Given the description of an element on the screen output the (x, y) to click on. 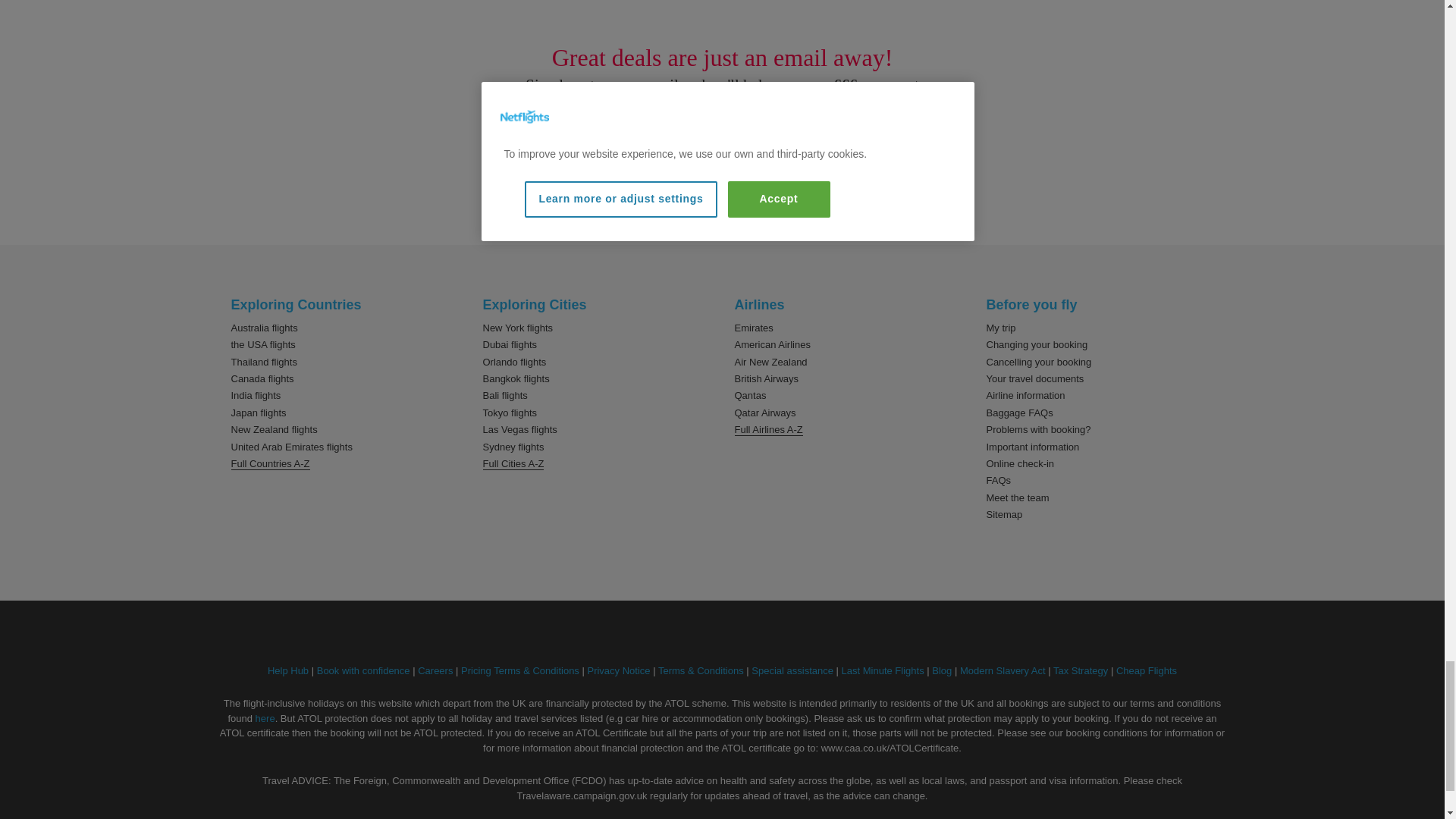
Help Hub (287, 670)
Dnata Careers (434, 670)
cheap flights (1146, 670)
